Given the description of an element on the screen output the (x, y) to click on. 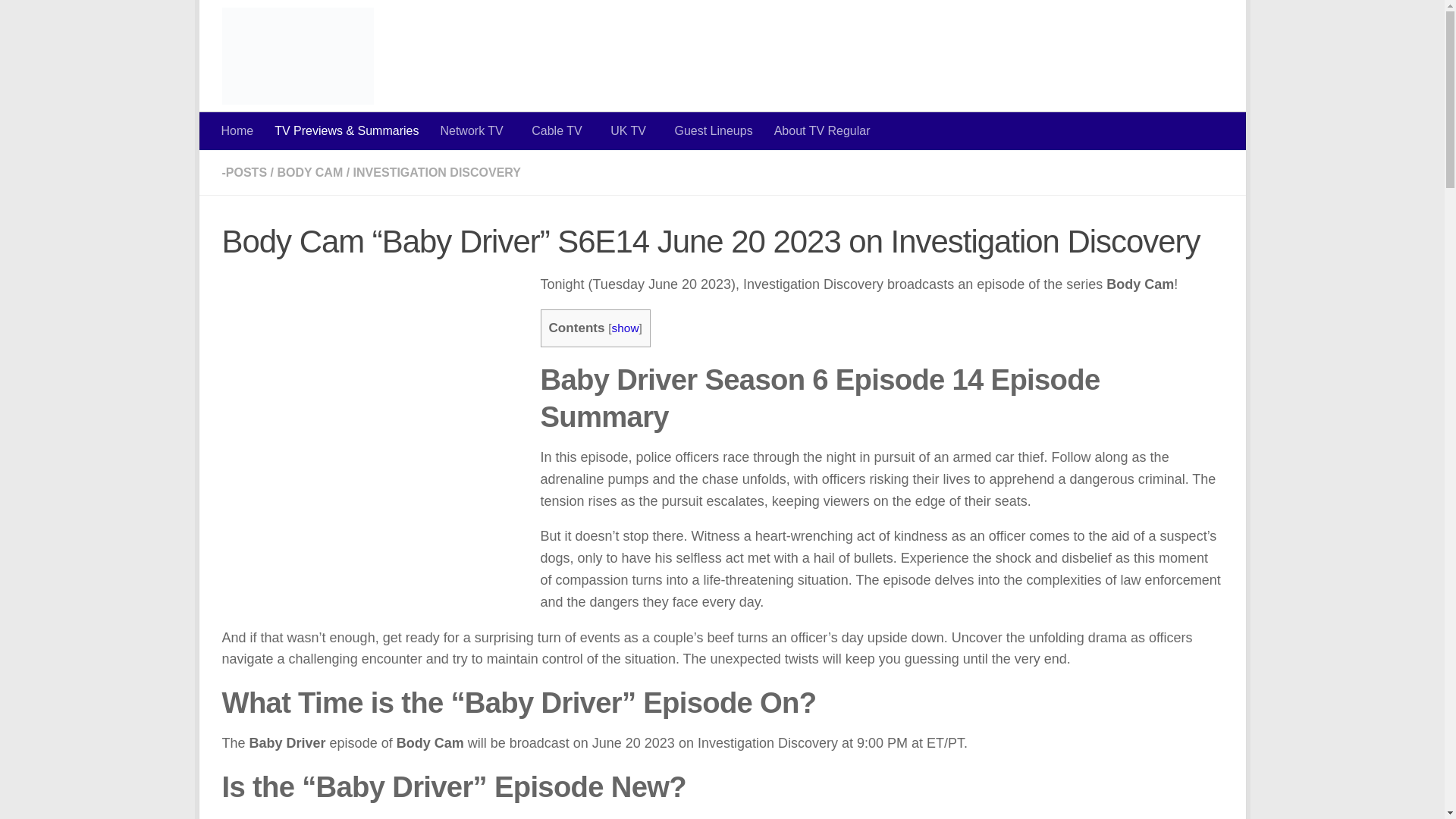
Advertisement (946, 60)
Skip to content (263, 20)
